Given the description of an element on the screen output the (x, y) to click on. 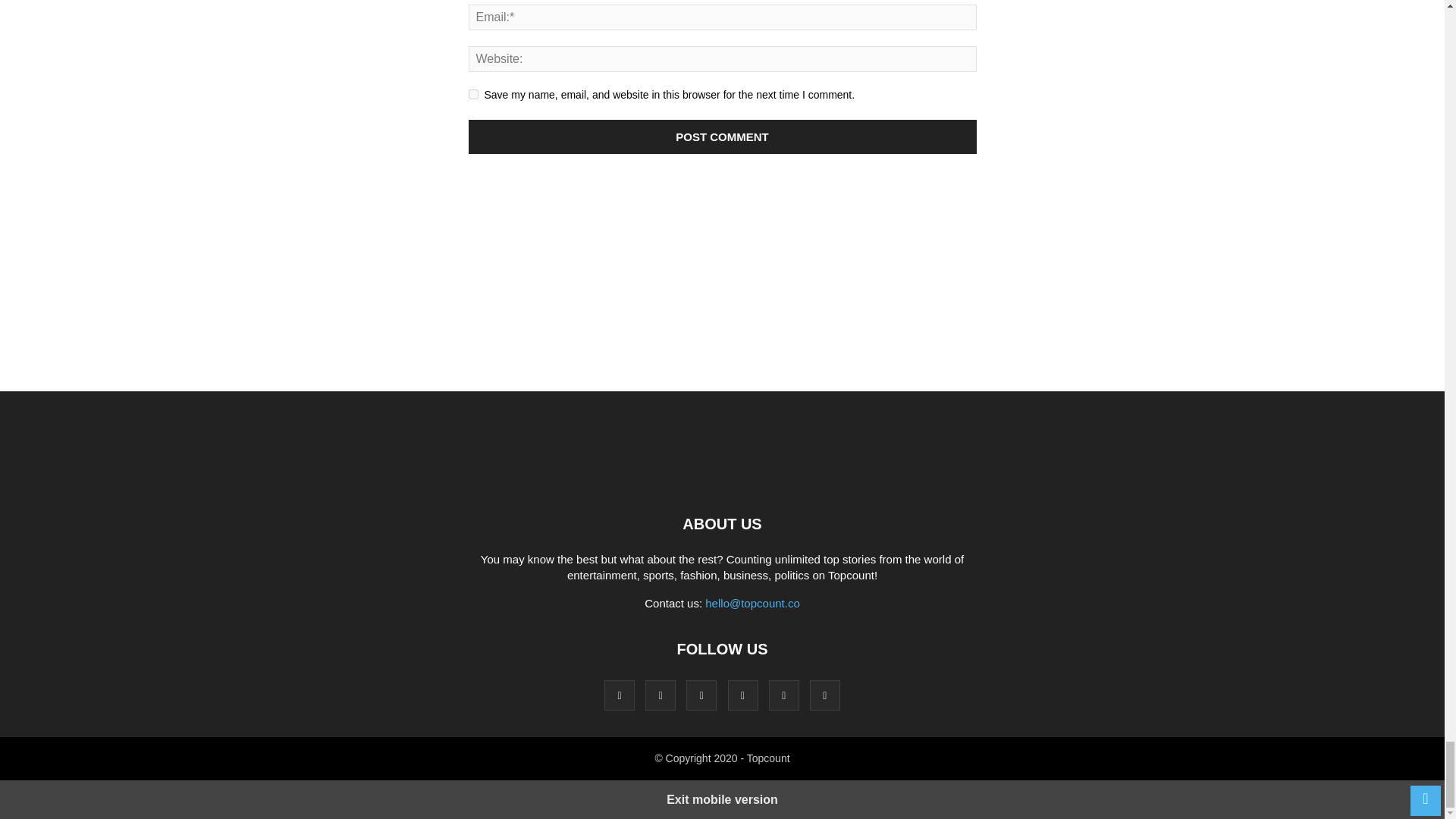
yes (473, 94)
Post Comment (722, 136)
Post Comment (722, 136)
